Given the description of an element on the screen output the (x, y) to click on. 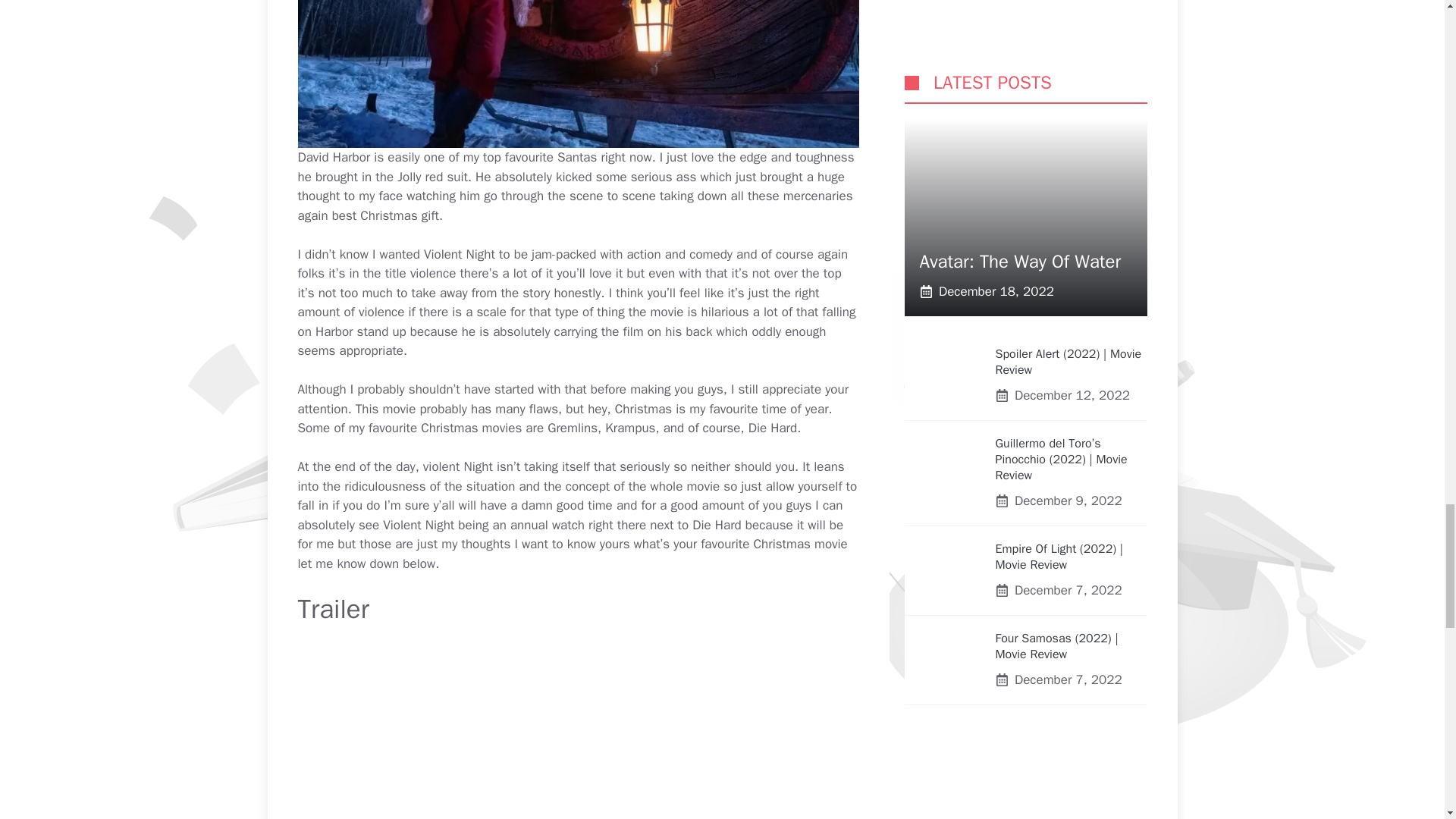
Violent Night - Official Trailer (578, 729)
